Given the description of an element on the screen output the (x, y) to click on. 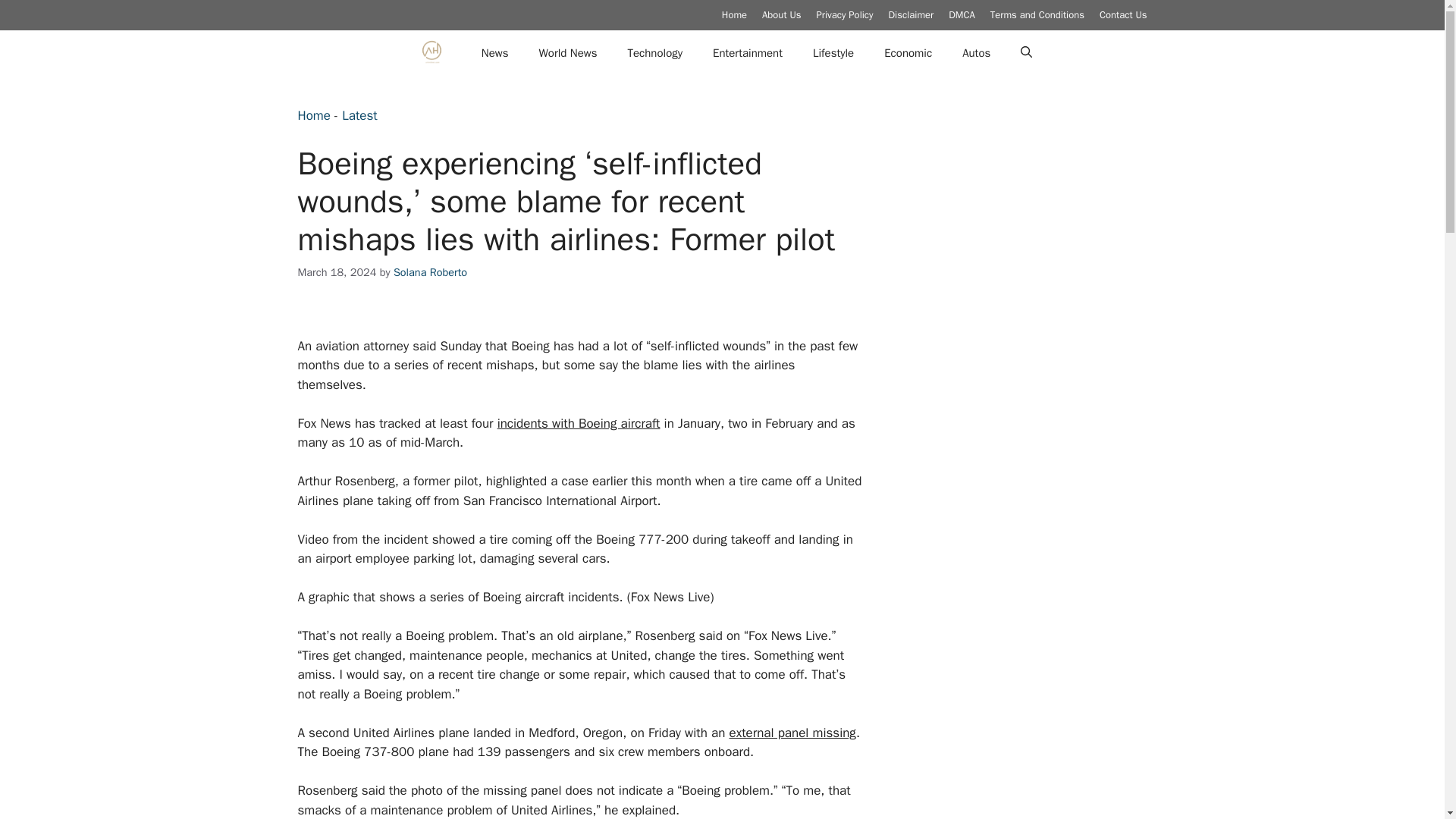
View all posts by Solana Roberto (430, 272)
Autos (976, 53)
About Us (780, 14)
Terms and Conditions (1037, 14)
ARIENHOST (431, 53)
Latest (359, 115)
Home (734, 14)
Home (313, 115)
Lifestyle (833, 53)
Contact Us (1123, 14)
Entertainment (747, 53)
Technology (655, 53)
News (494, 53)
Economic (908, 53)
Disclaimer (911, 14)
